Given the description of an element on the screen output the (x, y) to click on. 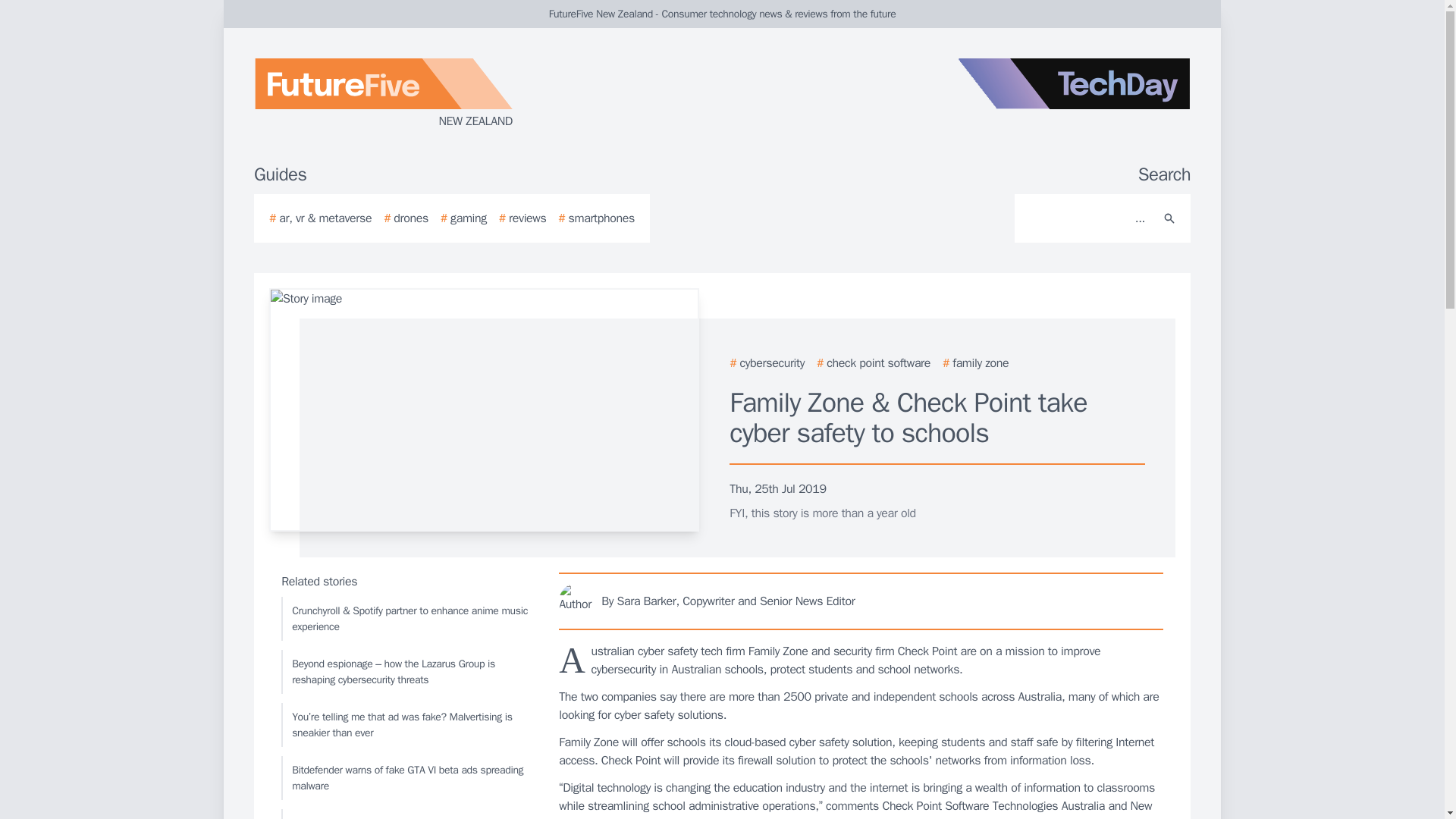
By Sara Barker, Copywriter and Senior News Editor (861, 601)
Bitdefender warns of fake GTA VI beta ads spreading malware (406, 777)
NEW ZEALAND (435, 94)
